Given the description of an element on the screen output the (x, y) to click on. 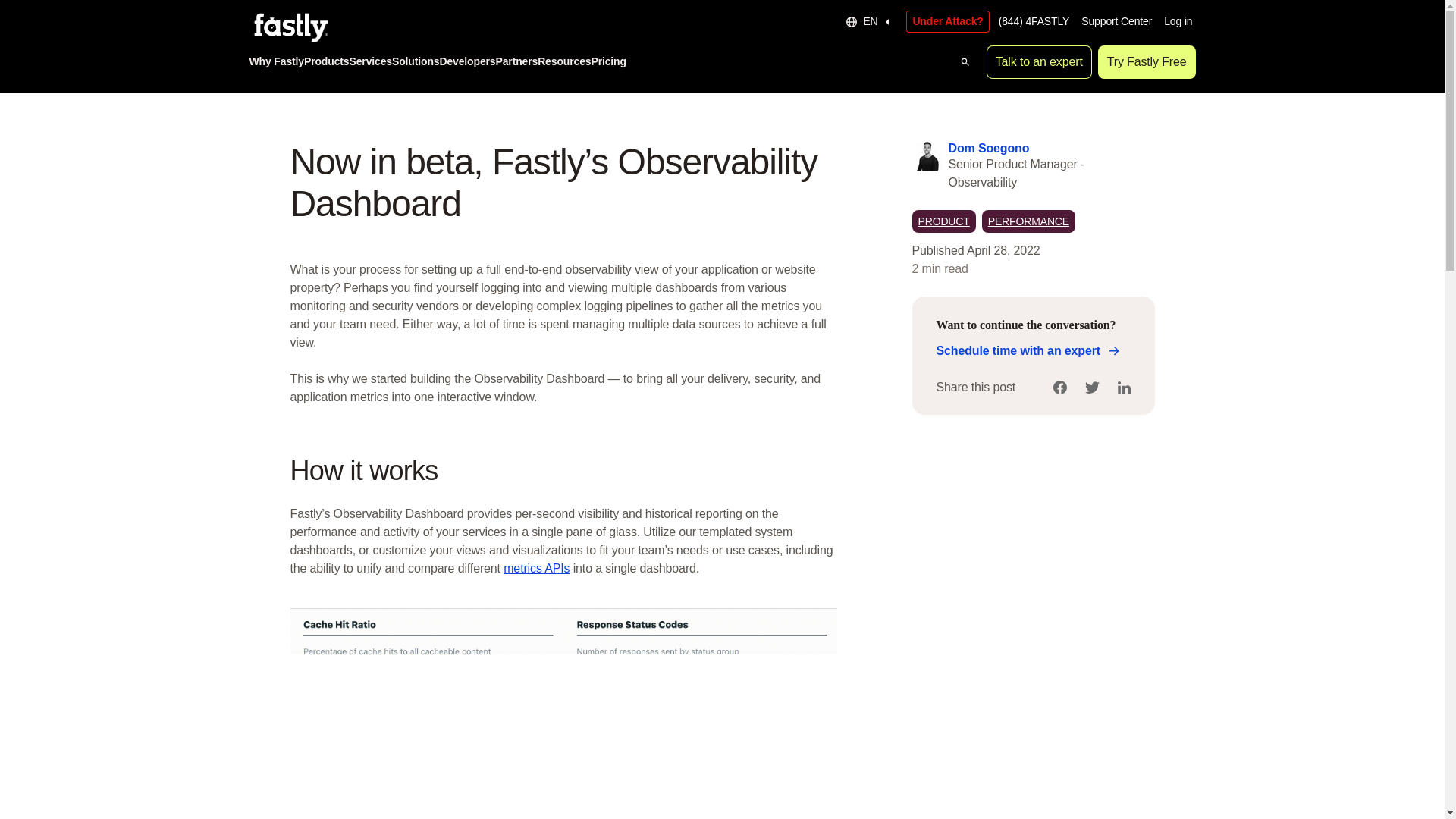
Dom Soegono (988, 146)
Support Center (1116, 21)
Why Fastly (275, 61)
Log in (1177, 21)
Under Attack? (946, 21)
PERFORMANCE (1028, 220)
Try Fastly Free (1146, 61)
Schedule time with an expert (1025, 351)
EN (869, 22)
Talk to an expert (1039, 61)
